Given the description of an element on the screen output the (x, y) to click on. 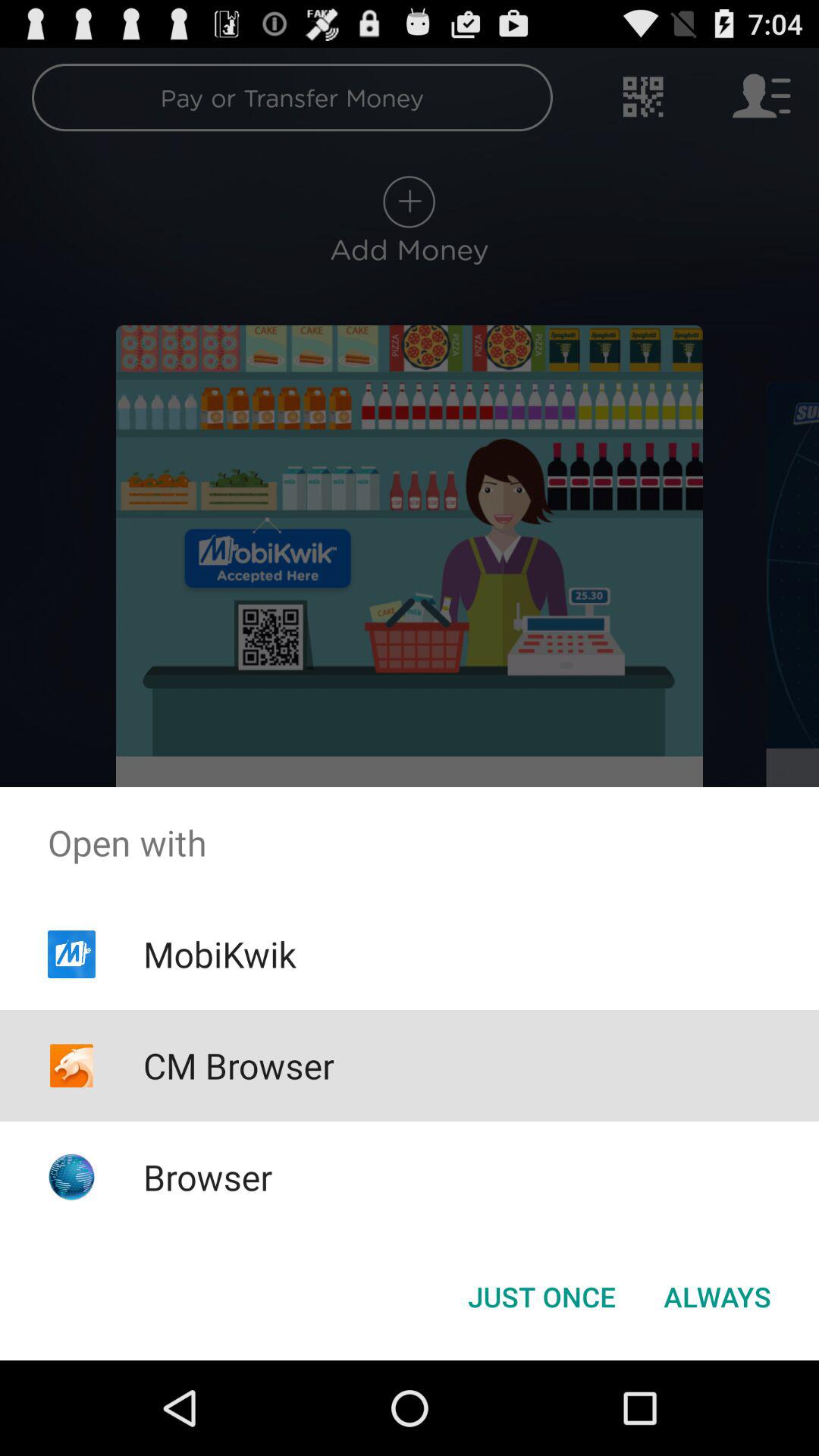
select the just once button (541, 1296)
